Given the description of an element on the screen output the (x, y) to click on. 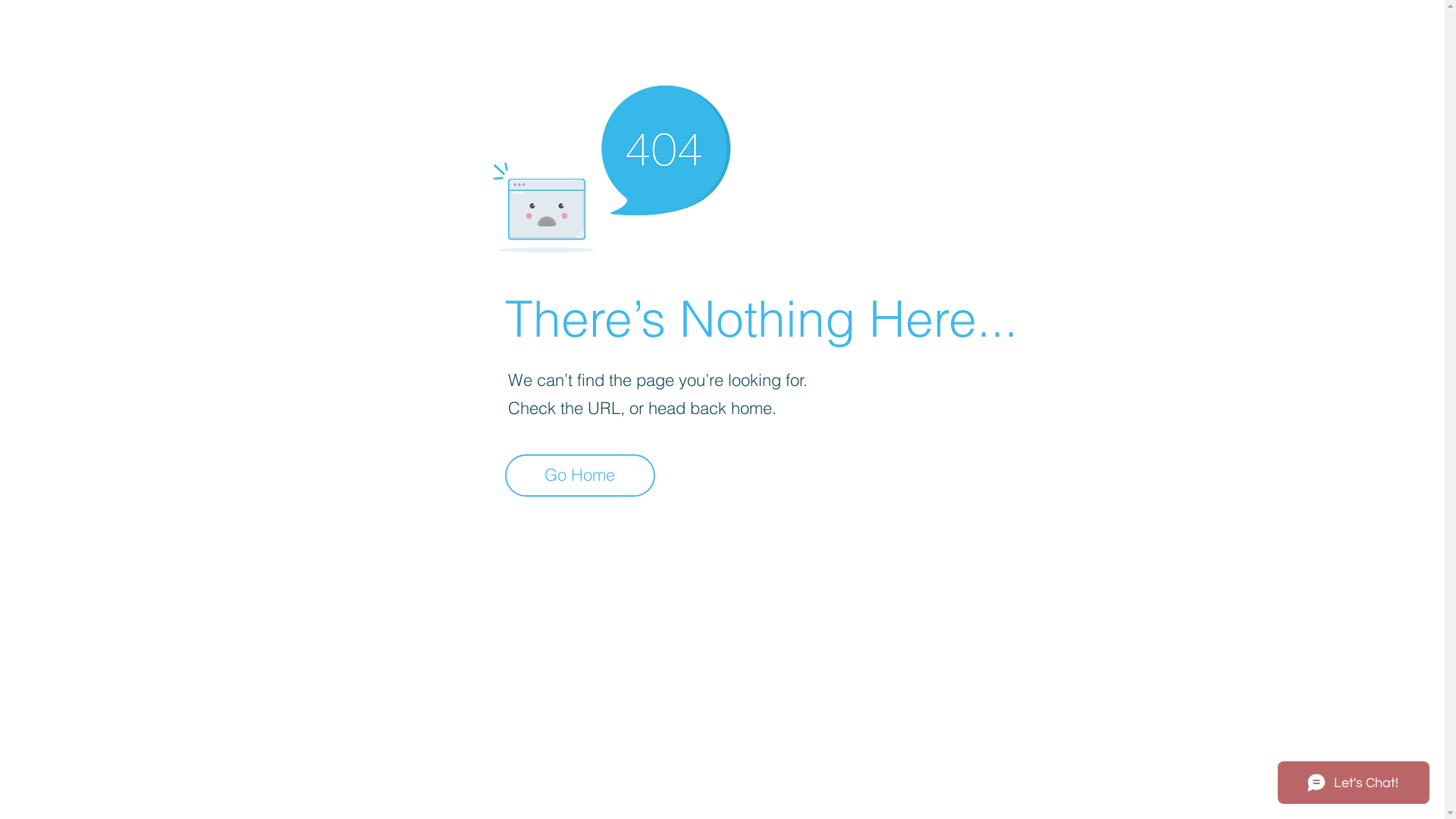
404-icon_2.png Element type: hover (610, 164)
Go Home Element type: text (580, 475)
